Given the description of an element on the screen output the (x, y) to click on. 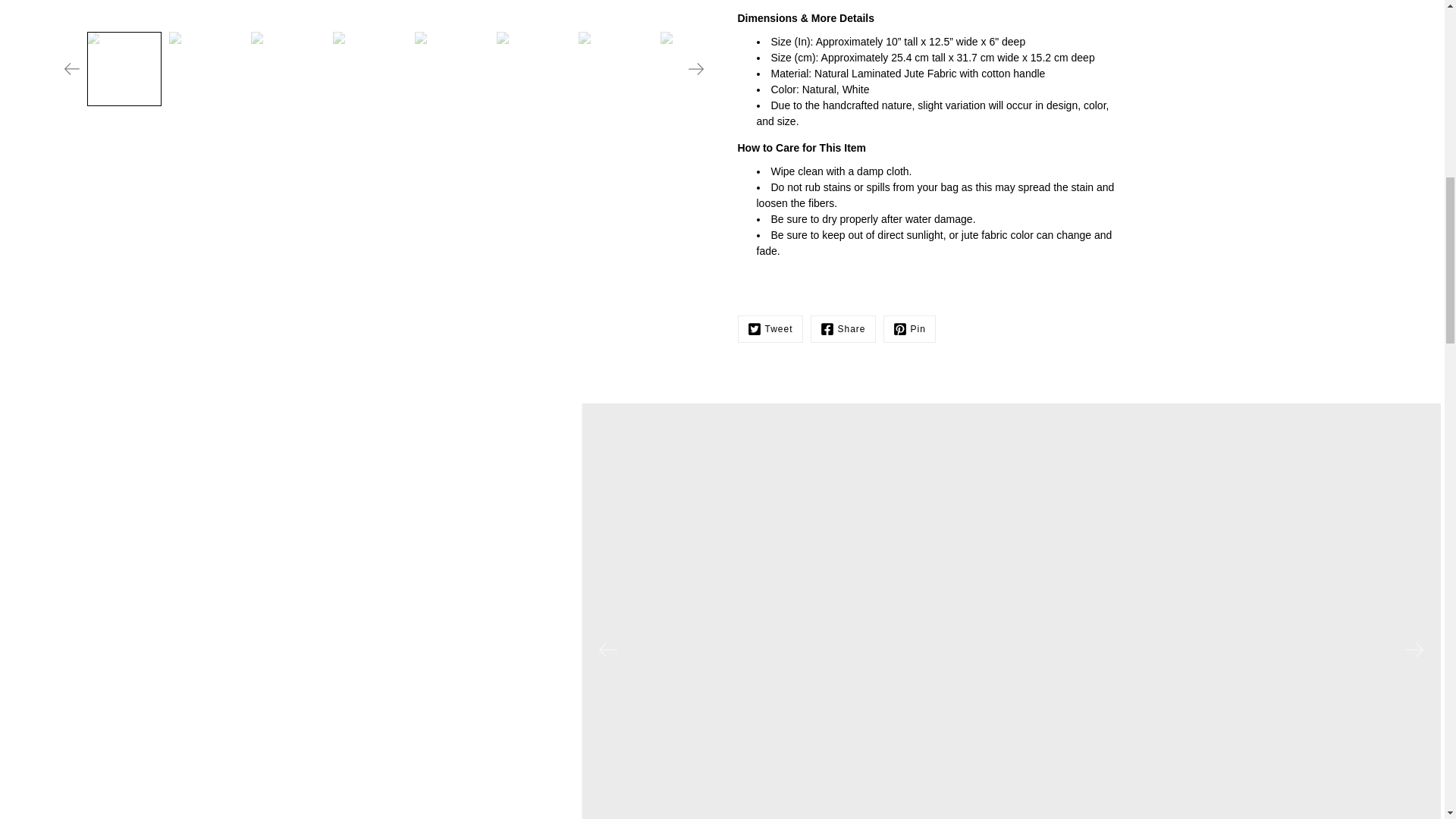
Facebook (843, 329)
Twitter (769, 329)
Pinterest (909, 329)
